Given the description of an element on the screen output the (x, y) to click on. 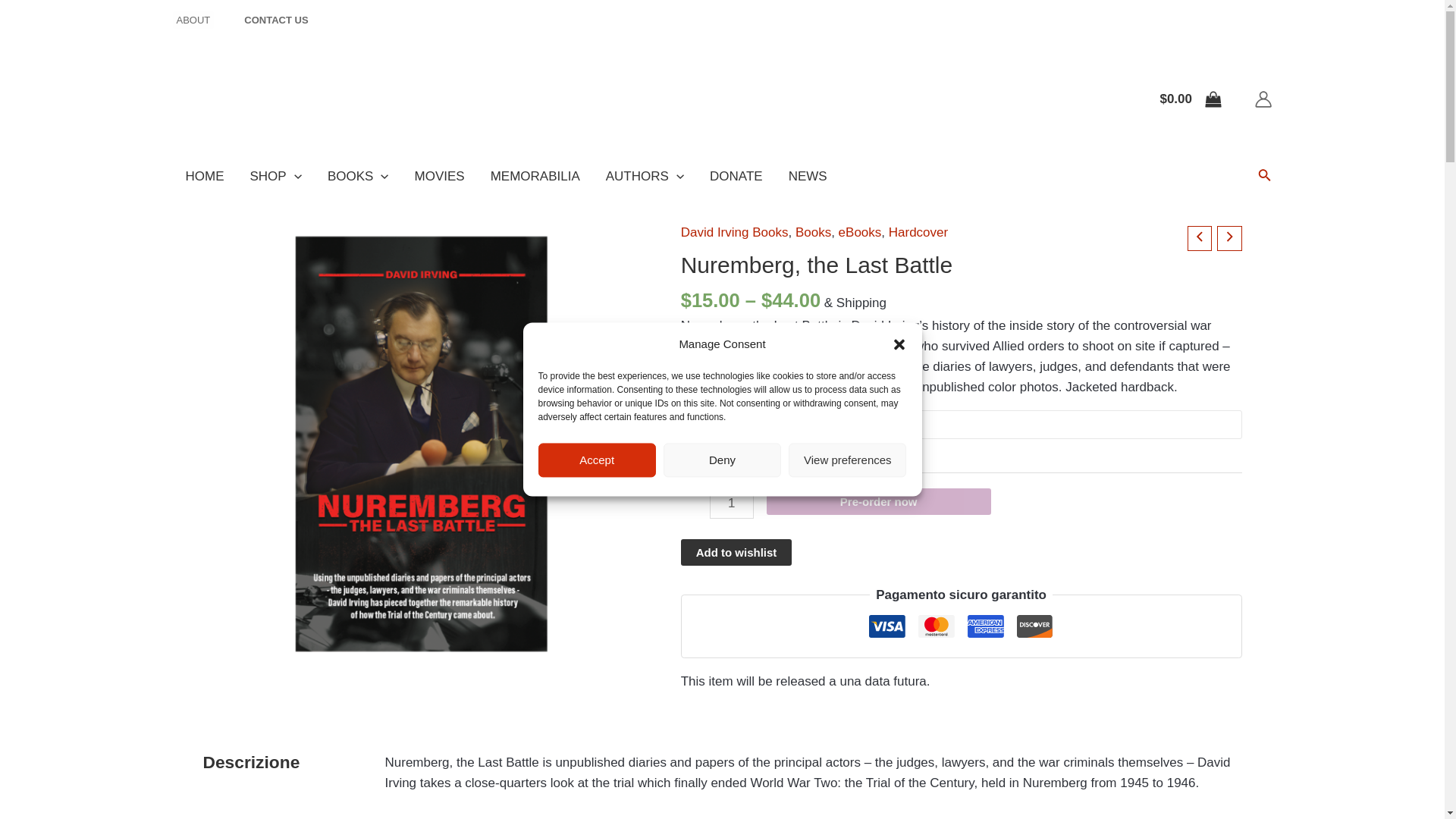
SHOP (274, 176)
CONTACT US (275, 19)
Accept (597, 482)
View preferences (847, 468)
DONATE (736, 176)
HOME (205, 176)
ABOUT (193, 19)
MOVIES (439, 176)
Deny (721, 474)
